Given the description of an element on the screen output the (x, y) to click on. 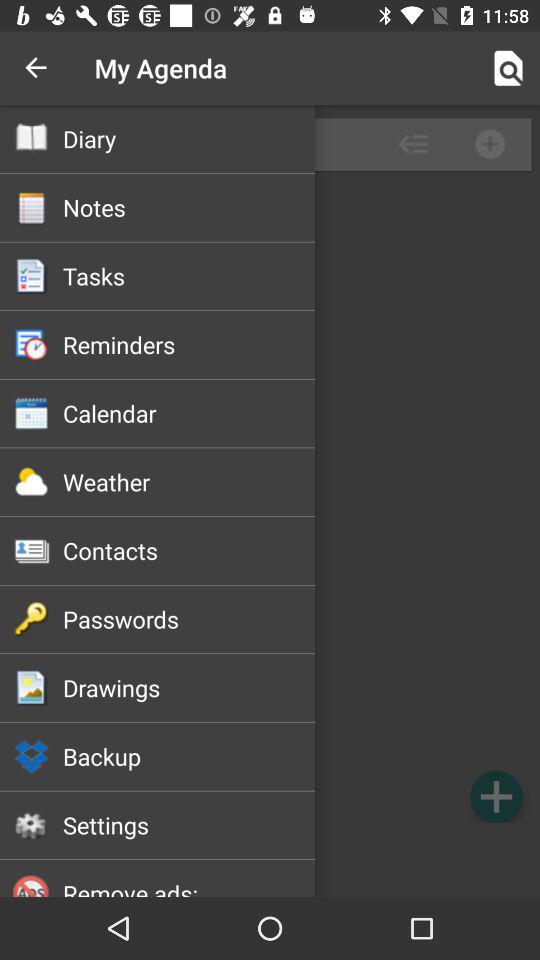
turn on the item below the settings icon (188, 886)
